Given the description of an element on the screen output the (x, y) to click on. 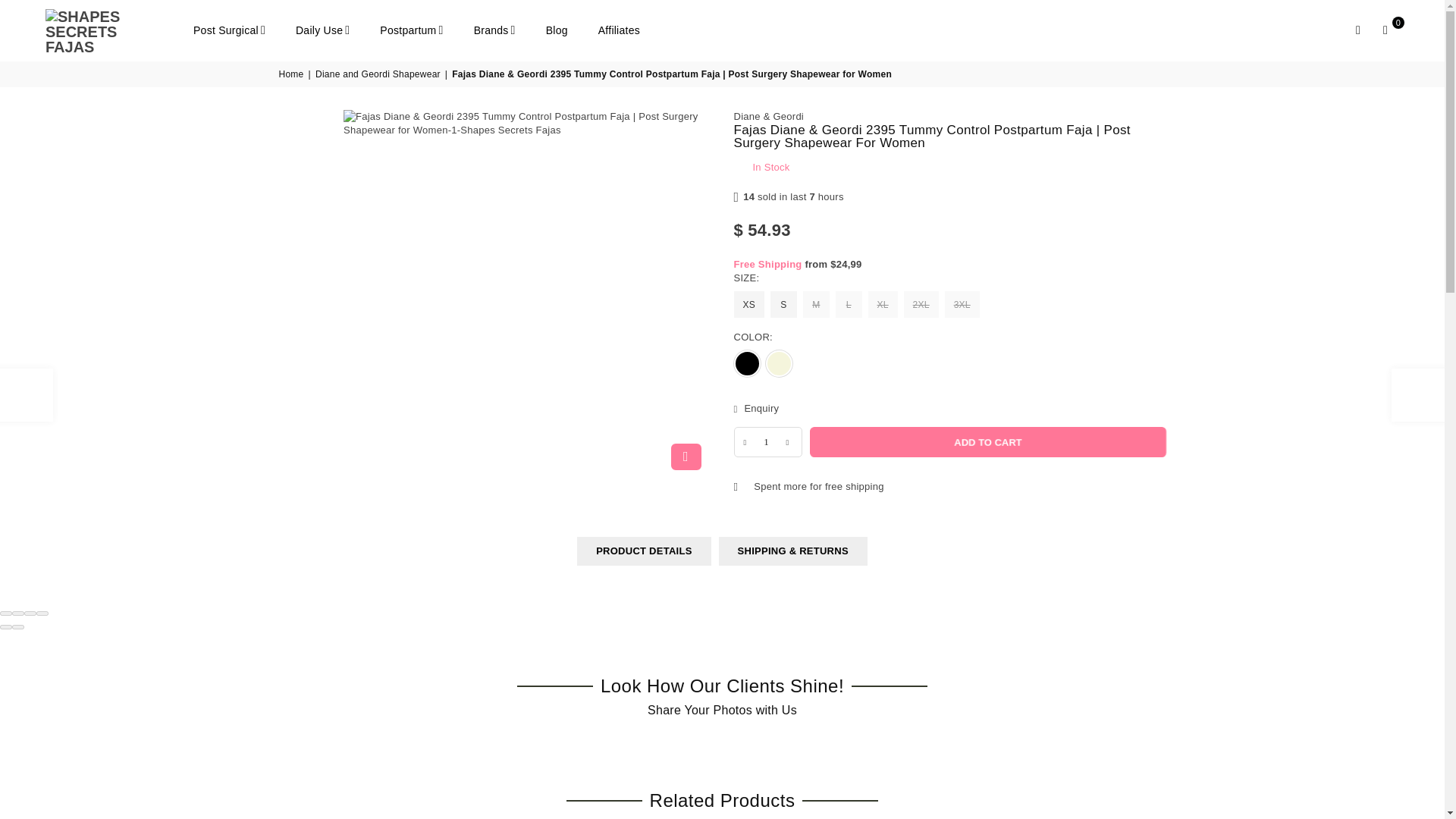
Post Surgical (229, 30)
Cart (1385, 29)
Back to the home page (292, 74)
Previous Product (26, 394)
Postpartum (411, 30)
Toggle fullscreen (30, 612)
Daily Use (322, 30)
Search (1357, 29)
Brands (495, 30)
Blog (556, 30)
SHAPES SECRETS FAJAS (113, 30)
Share (17, 612)
Quantity (767, 441)
